Given the description of an element on the screen output the (x, y) to click on. 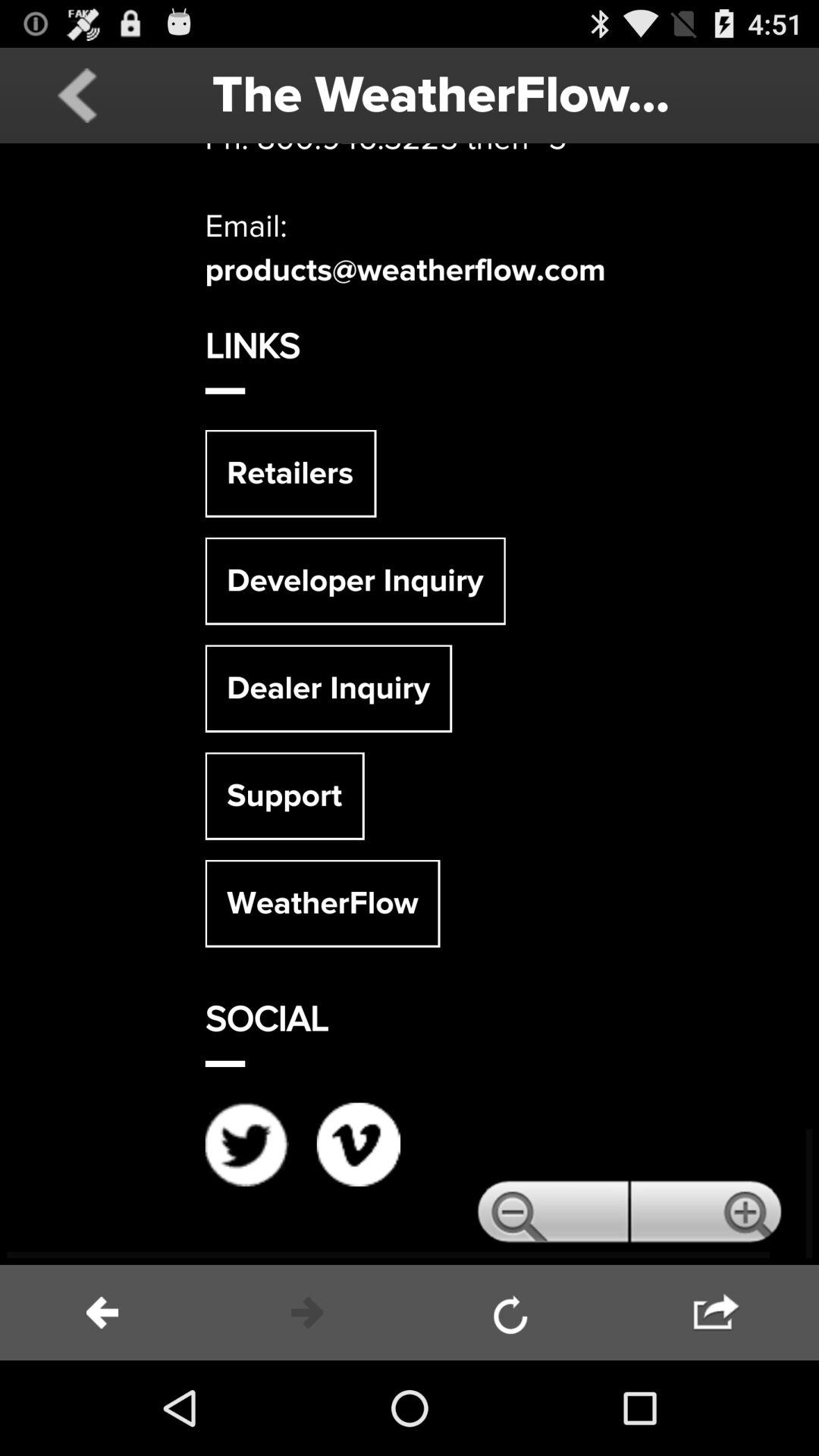
reload page (511, 1312)
